Given the description of an element on the screen output the (x, y) to click on. 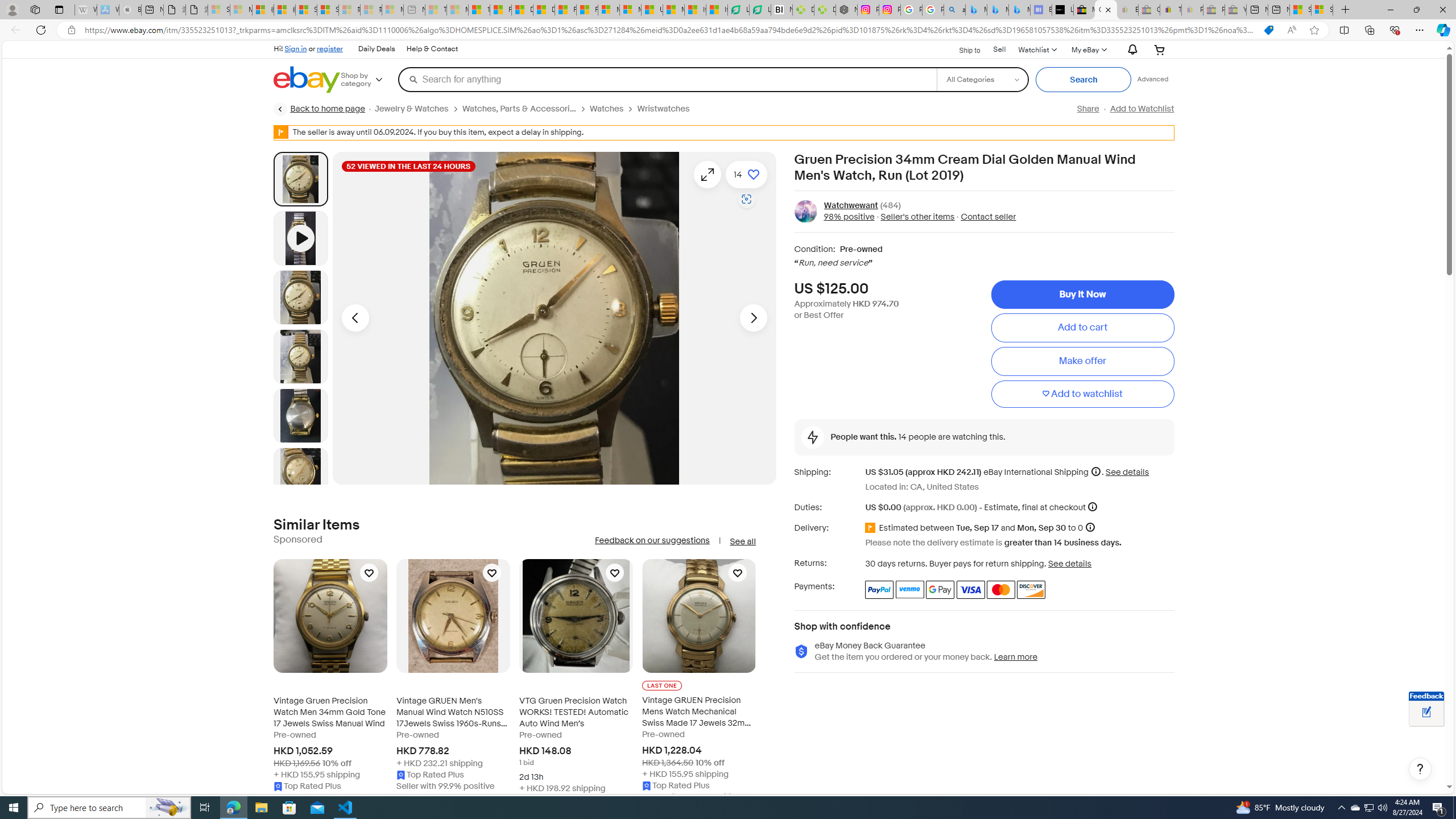
Watches (606, 108)
Watches, Parts & Accessories (518, 108)
Drinking tea every day is proven to delay biological aging (543, 9)
Leave feedback about your eBay ViewItem experience (1426, 713)
Google Pay (940, 588)
Watchlist (1036, 49)
See all (742, 540)
